Given the description of an element on the screen output the (x, y) to click on. 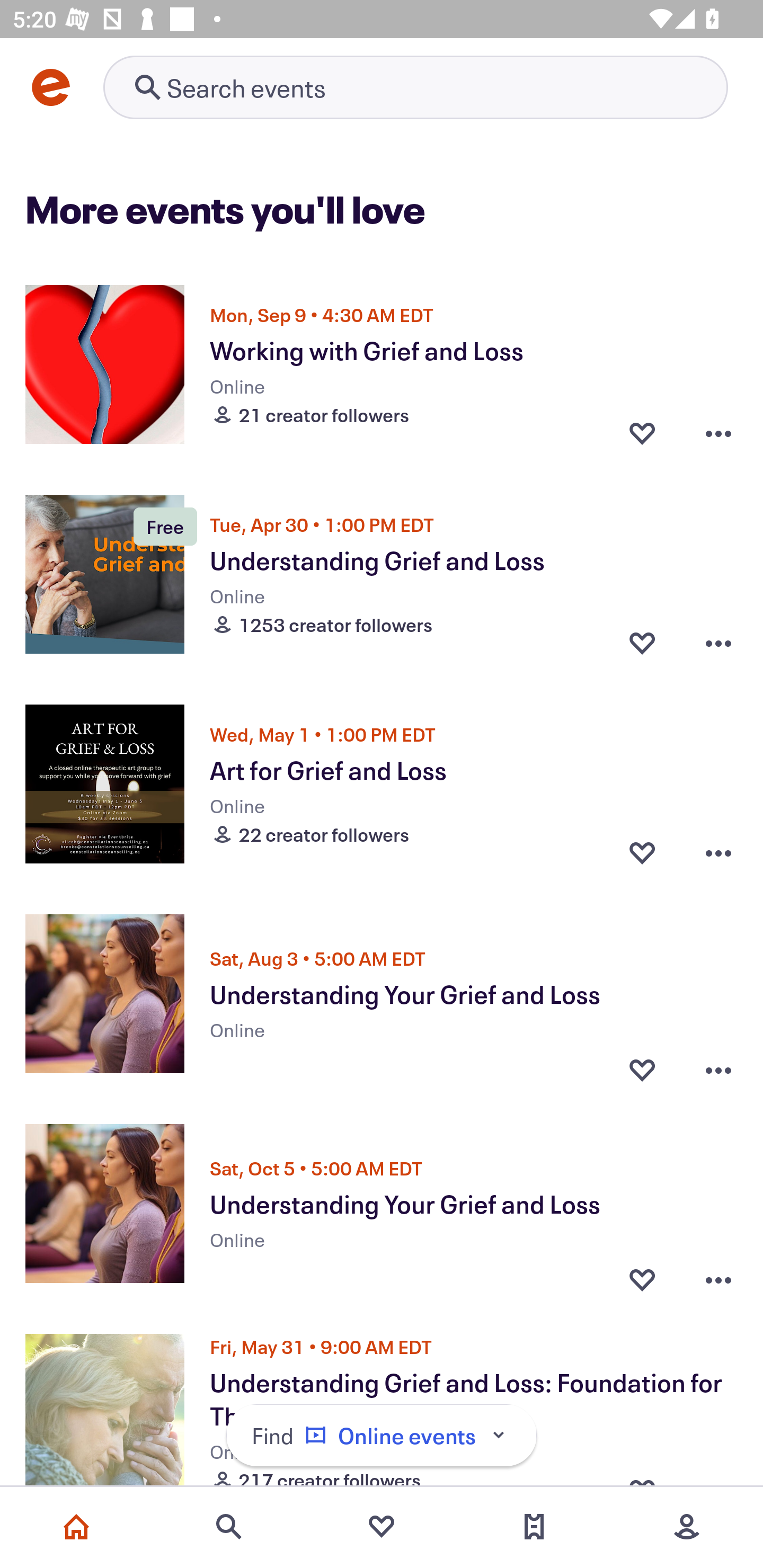
Retry's image Search events (415, 86)
Favorite button (642, 431)
Overflow menu button (718, 431)
Favorite button (642, 641)
Overflow menu button (718, 641)
Favorite button (642, 852)
Overflow menu button (718, 852)
Favorite button (642, 1065)
Overflow menu button (718, 1065)
Favorite button (642, 1274)
Overflow menu button (718, 1274)
Find Online events (381, 1435)
Home (76, 1526)
Search events (228, 1526)
Favorites (381, 1526)
Tickets (533, 1526)
More (686, 1526)
